Given the description of an element on the screen output the (x, y) to click on. 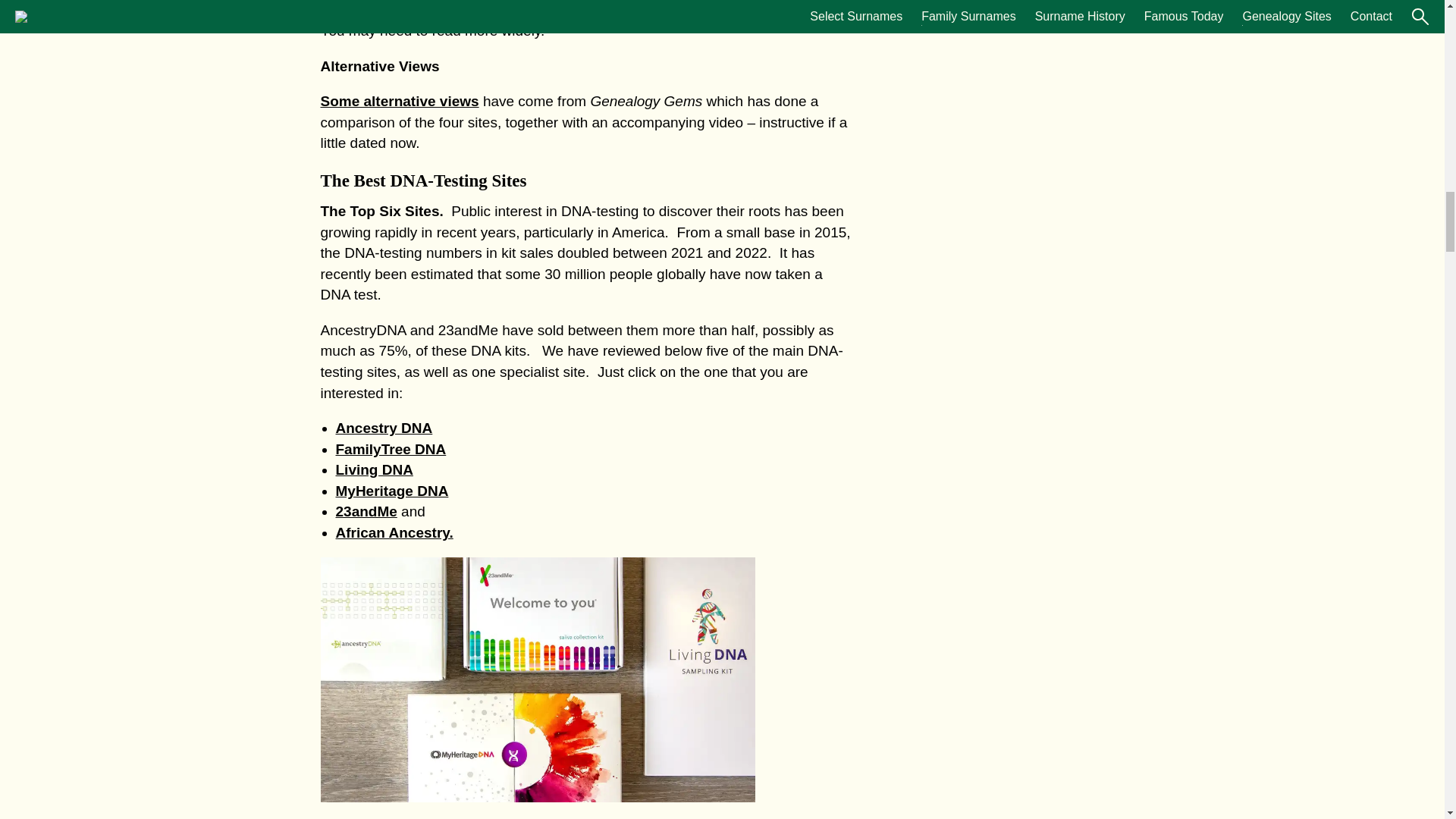
Some alternative views (399, 100)
FamilyTree DNA (389, 449)
MyHeritage DNA (391, 490)
23andMe (365, 511)
African Ancestry. (393, 532)
Living DNA (373, 469)
Ancestry DNA (383, 427)
